Given the description of an element on the screen output the (x, y) to click on. 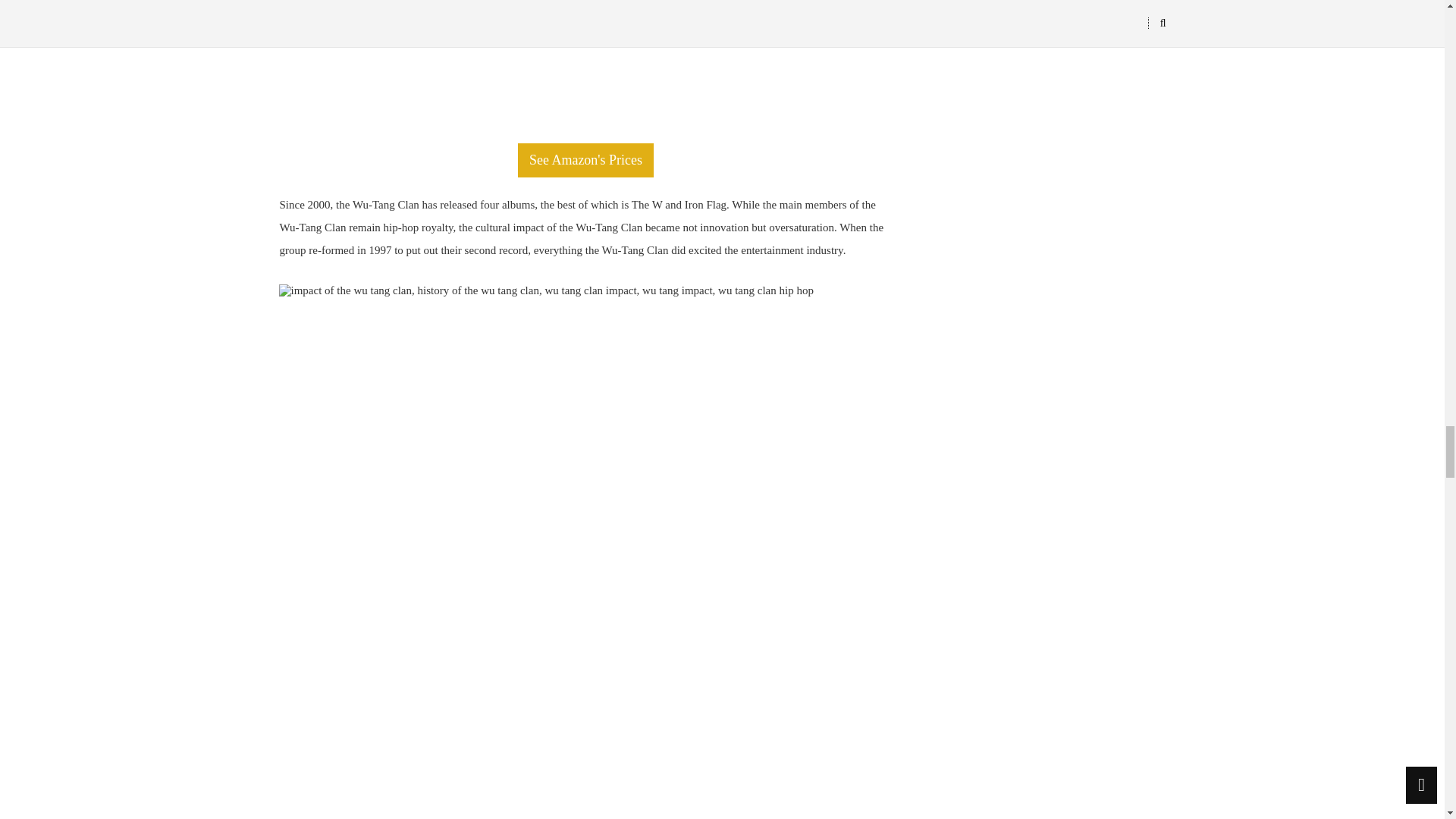
See Amazon's Prices (585, 160)
the-w-4f7b3e6c5b42d (586, 63)
